Given the description of an element on the screen output the (x, y) to click on. 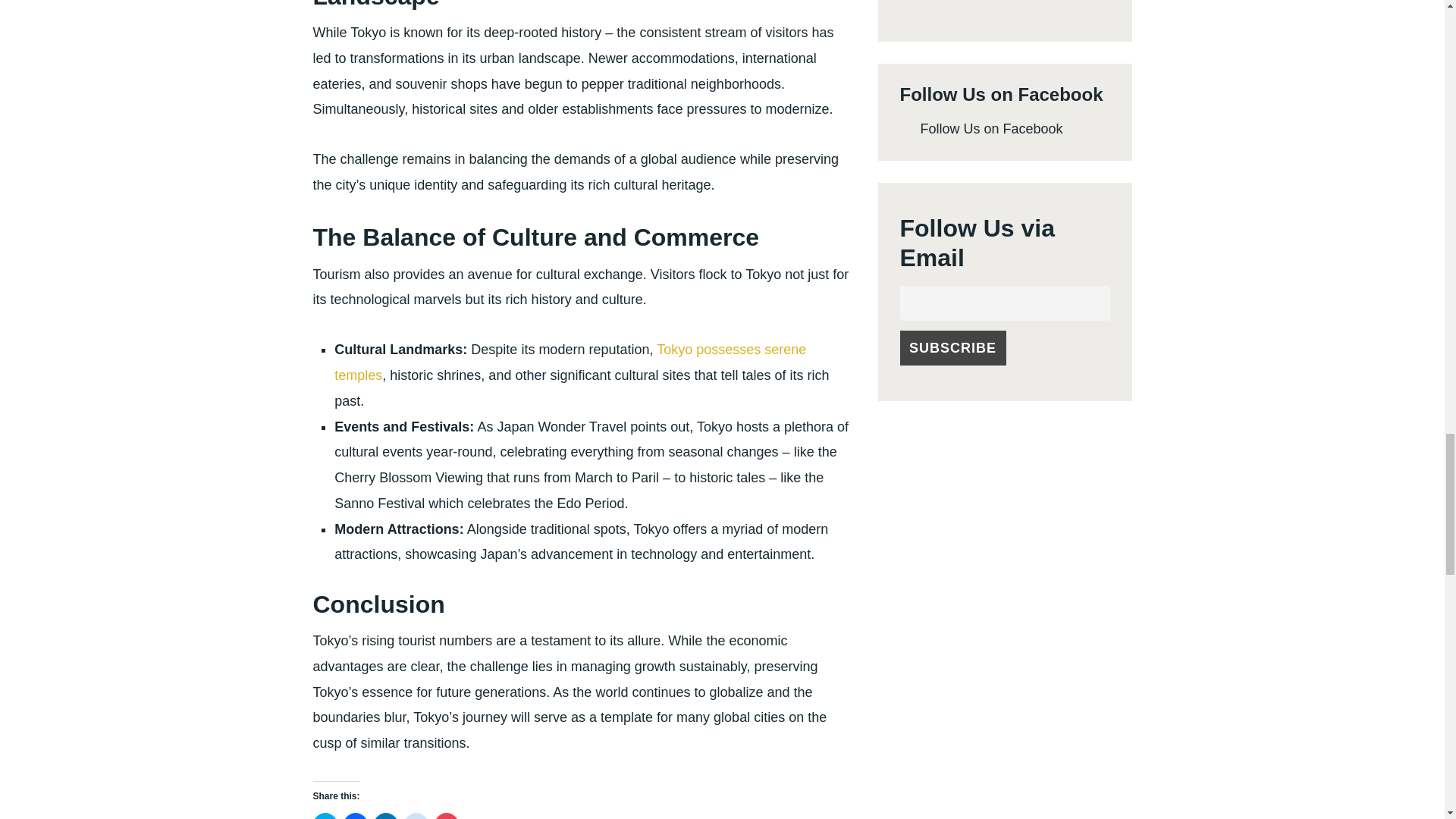
Click to share on Pocket (445, 816)
Click to share on Reddit (415, 816)
Click to share on LinkedIn (384, 816)
Click to share on Facebook (354, 816)
Tokyo possesses serene temples (570, 362)
SUBSCRIBE (952, 347)
Click to share on Twitter (324, 816)
